Given the description of an element on the screen output the (x, y) to click on. 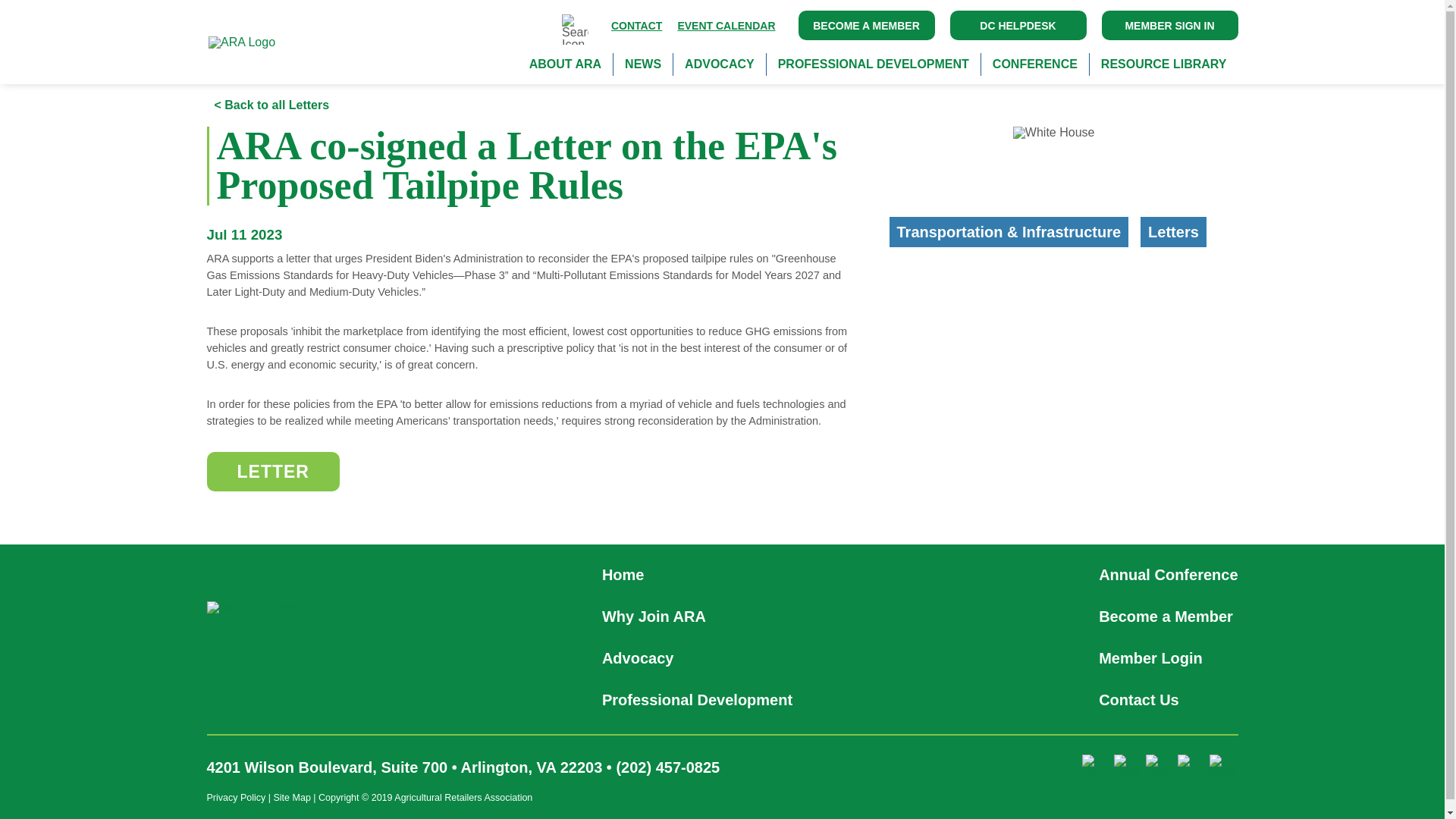
BECOME A MEMBER (865, 25)
MEMBER SIGN IN (1168, 25)
EVENT CALENDAR (726, 24)
DC HELPDESK (1017, 25)
CONTACT (636, 24)
